Given the description of an element on the screen output the (x, y) to click on. 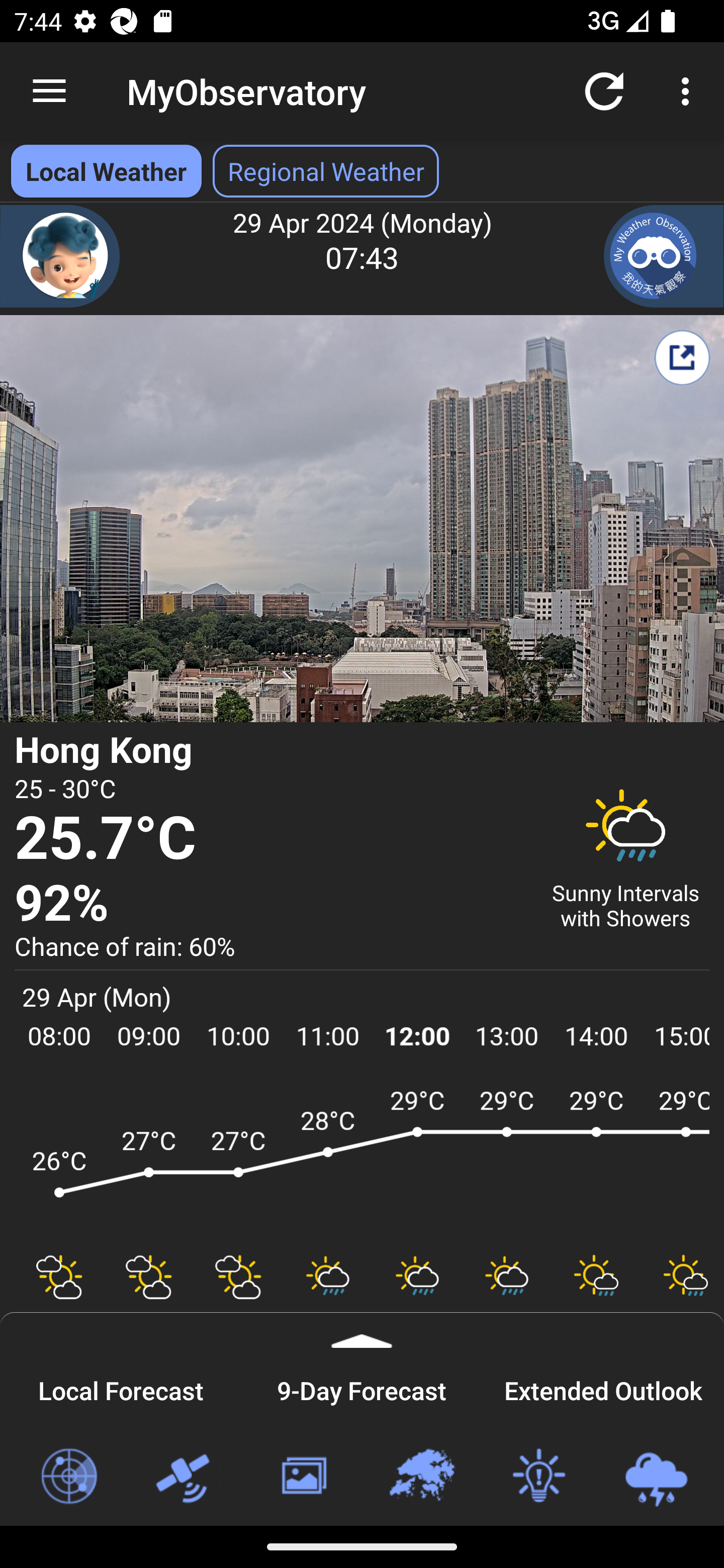
Navigate up (49, 91)
Refresh (604, 90)
More options (688, 90)
Local Weather Local Weather selected (105, 170)
Regional Weather Select Regional Weather (325, 170)
Chatbot (60, 256)
My Weather Observation (663, 256)
Share My Weather Report (681, 357)
25.7°C Temperature
25.7 degree Celsius (270, 839)
92% Relative Humidity
92 percent (270, 903)
ARWF (361, 1160)
Expand (362, 1330)
Local Forecast (120, 1387)
Extended Outlook (603, 1387)
Radar Images (68, 1476)
Satellite Images (185, 1476)
Weather Photos (302, 1476)
Regional Weather (420, 1476)
Weather Tips (537, 1476)
Loc-based Rain & Lightning Forecast (655, 1476)
